Given the description of an element on the screen output the (x, y) to click on. 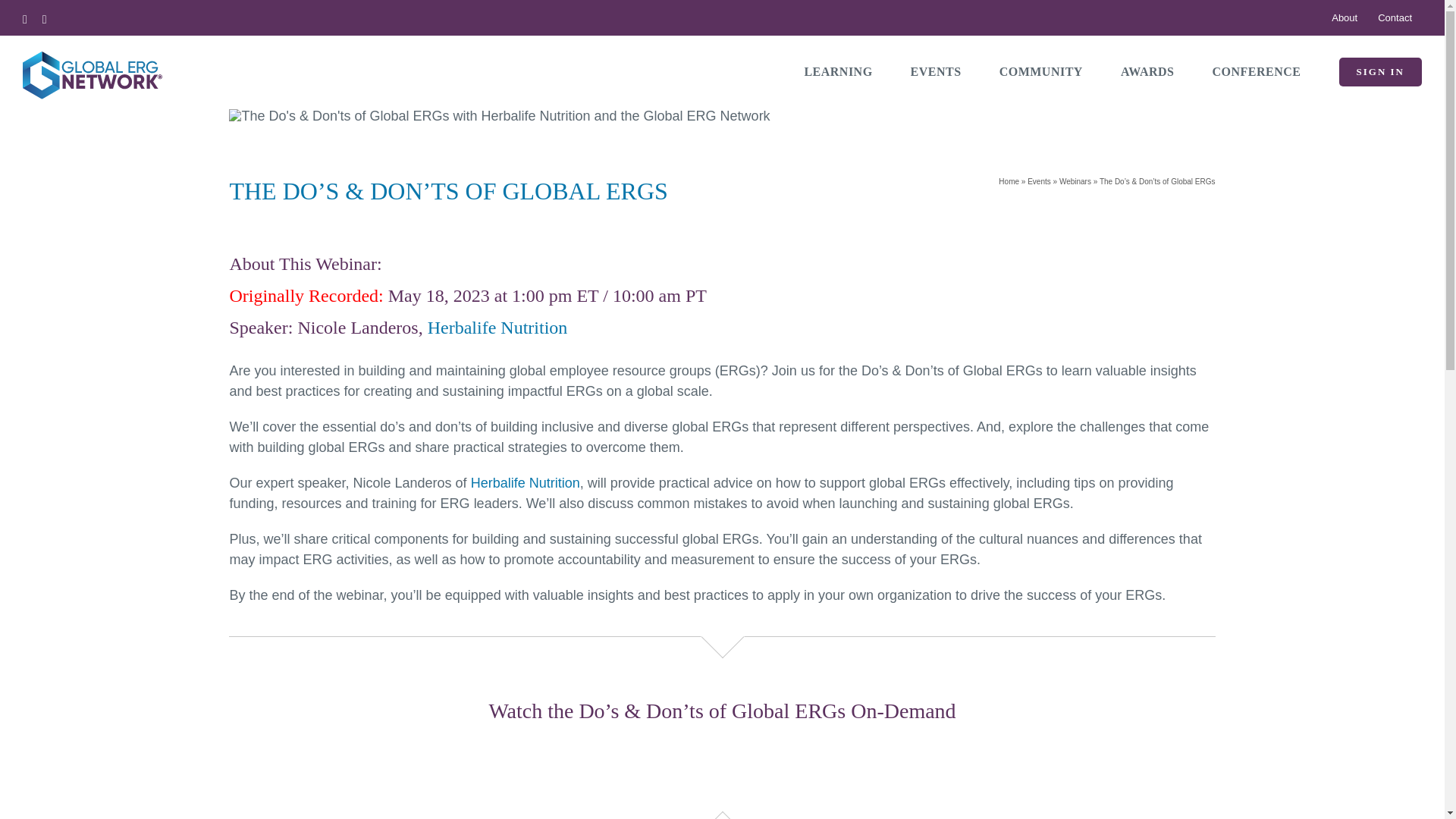
About (1344, 17)
COMMUNITY (1040, 71)
CONFERENCE (1255, 71)
SIGN IN (1380, 71)
LEARNING (837, 71)
Contact (1395, 17)
